Given the description of an element on the screen output the (x, y) to click on. 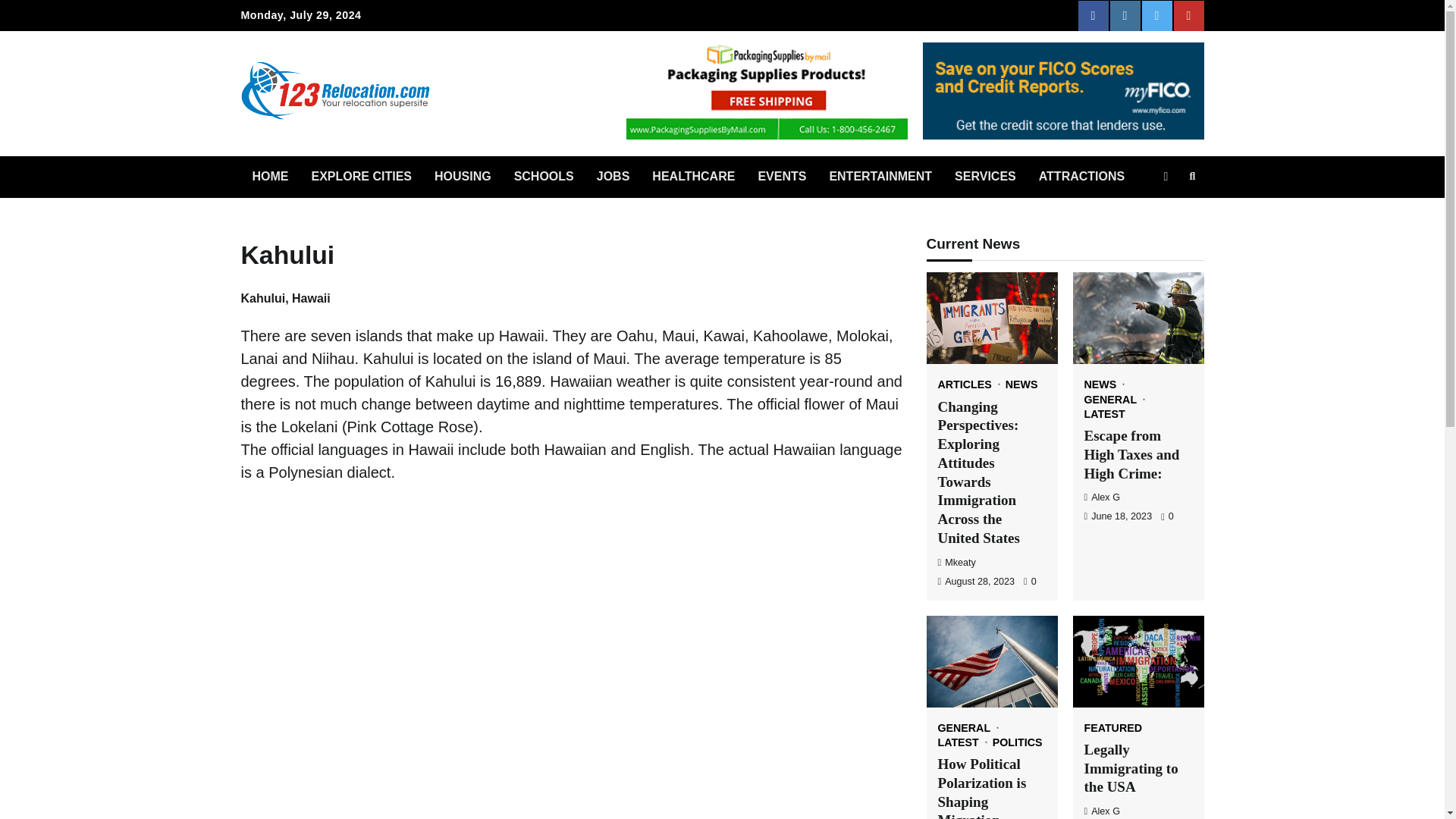
JOBS (613, 176)
EVENTS (780, 176)
ARTICLES (969, 384)
LATEST (962, 742)
Alex G (1102, 497)
HOUSING (462, 176)
ENTERTAINMENT (879, 176)
HOME (270, 176)
Search (1192, 176)
facebook (1093, 15)
LATEST (1104, 413)
SERVICES (985, 176)
EXPLORE CITIES (361, 176)
Search (1164, 212)
HEALTHCARE (692, 176)
